Given the description of an element on the screen output the (x, y) to click on. 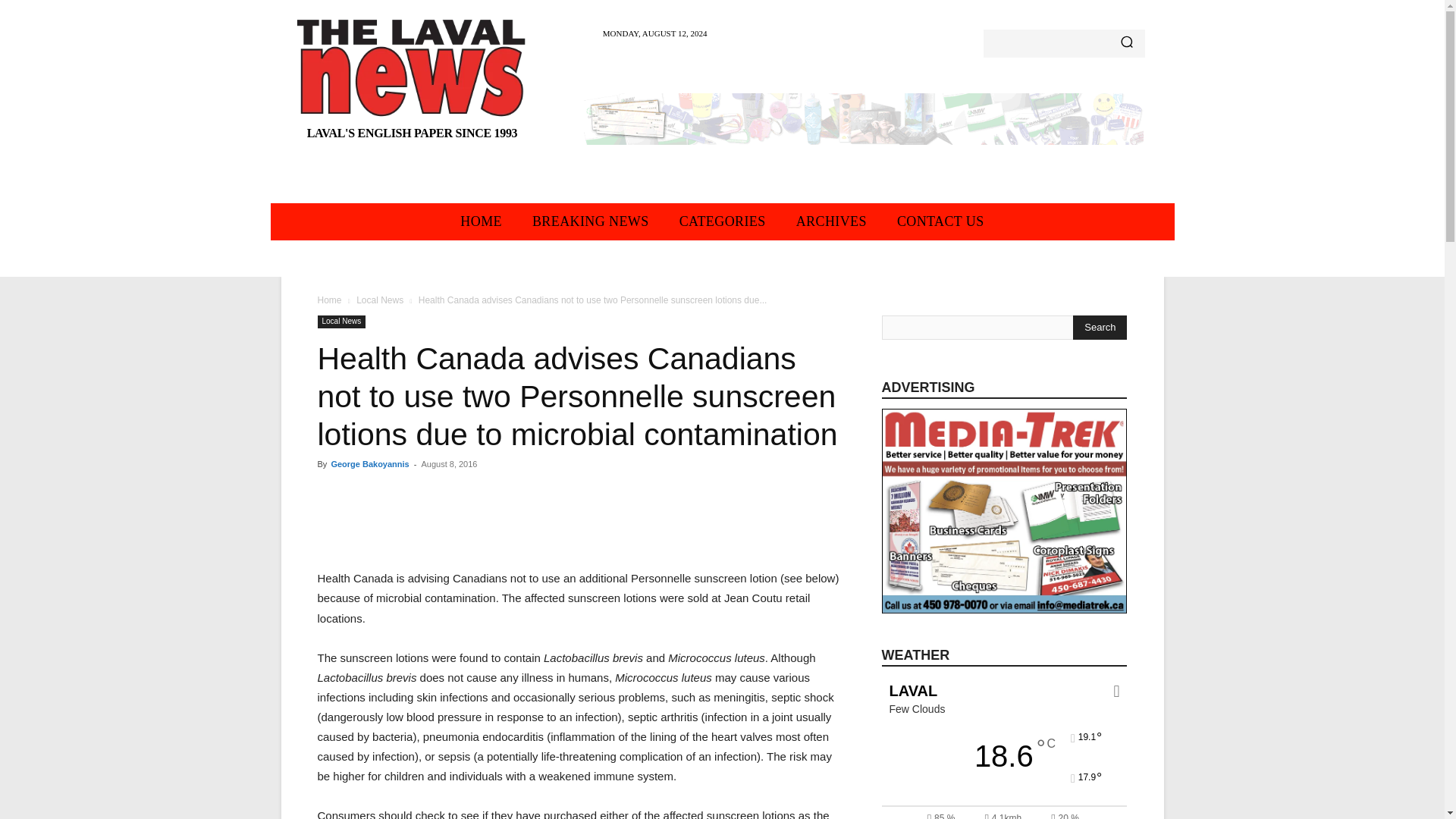
LAVAL'S ENGLISH PAPER SINCE 1993 (412, 83)
CATEGORIES (721, 221)
ARCHIVES (831, 221)
topFacebookLike (430, 491)
Search (1099, 327)
View all posts in Local News (379, 299)
Logo of The Laval News (412, 67)
Logo of The Laval News (412, 83)
CONTACT US (940, 221)
HOME (480, 221)
